Given the description of an element on the screen output the (x, y) to click on. 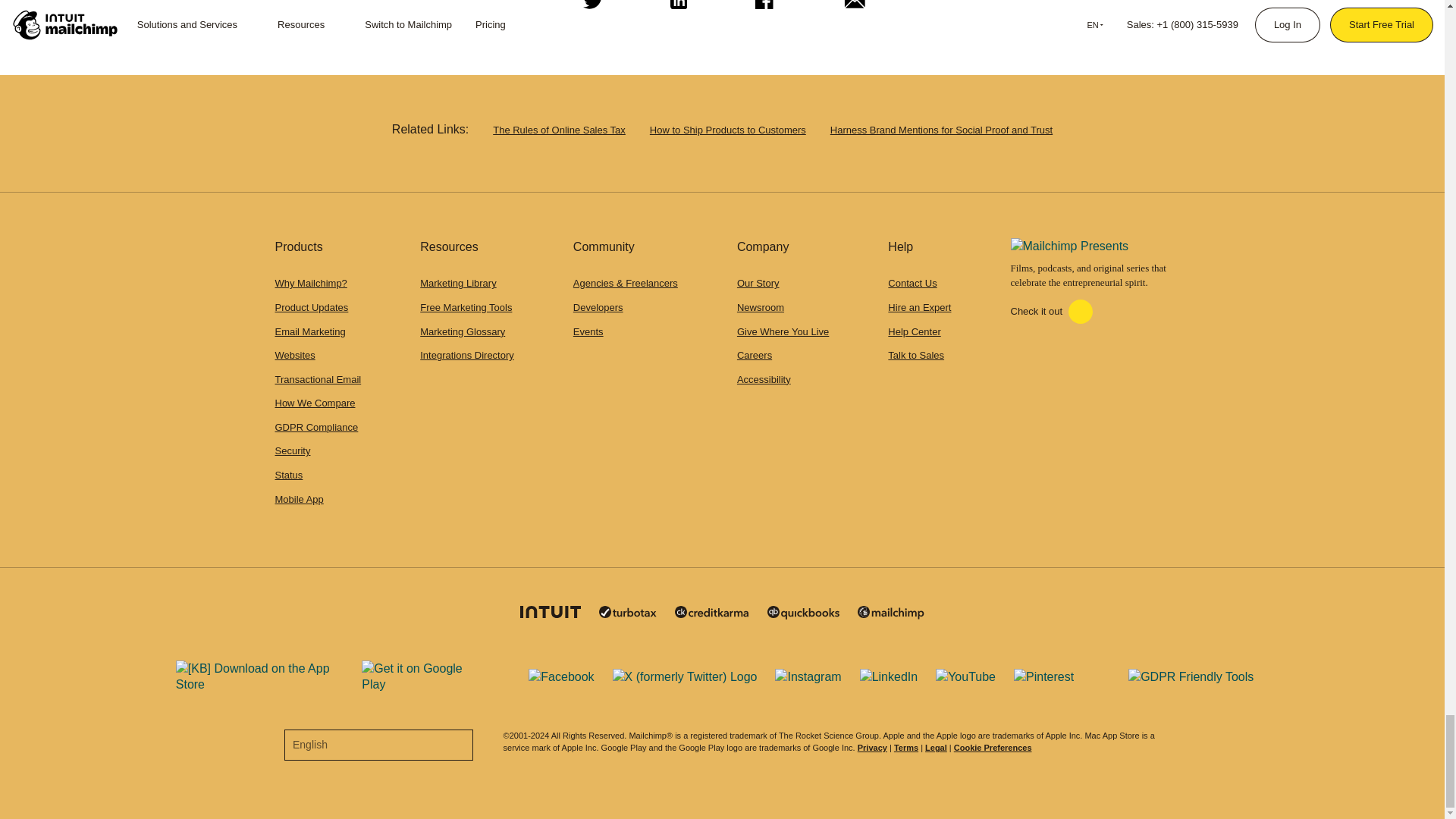
Share this article on Facebook (762, 10)
Email this article (850, 10)
Share this article on Twitter (590, 10)
The Rules of Online Sales Tax (559, 129)
Share this article on Linkedin (676, 10)
